Given the description of an element on the screen output the (x, y) to click on. 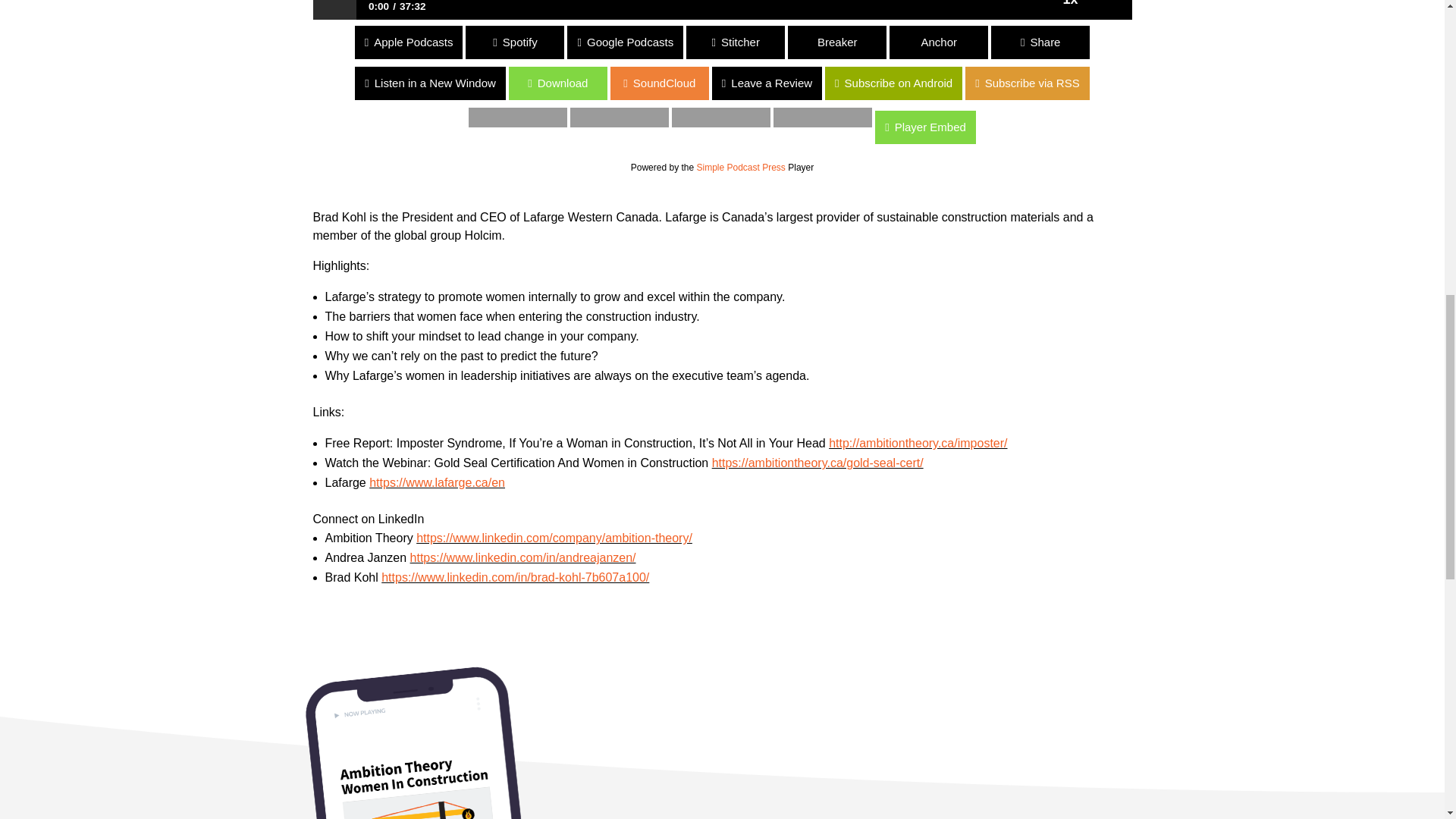
Download (49, 82)
Share (1040, 41)
Leave a Review (900, 82)
Google Podcasts (58, 41)
Subscribe via RSS (61, 82)
Spotify (668, 41)
Stitcher (49, 41)
Subscribe on Android (68, 82)
Listen in a New Window (75, 82)
Podcast-WIC (400, 738)
